Given the description of an element on the screen output the (x, y) to click on. 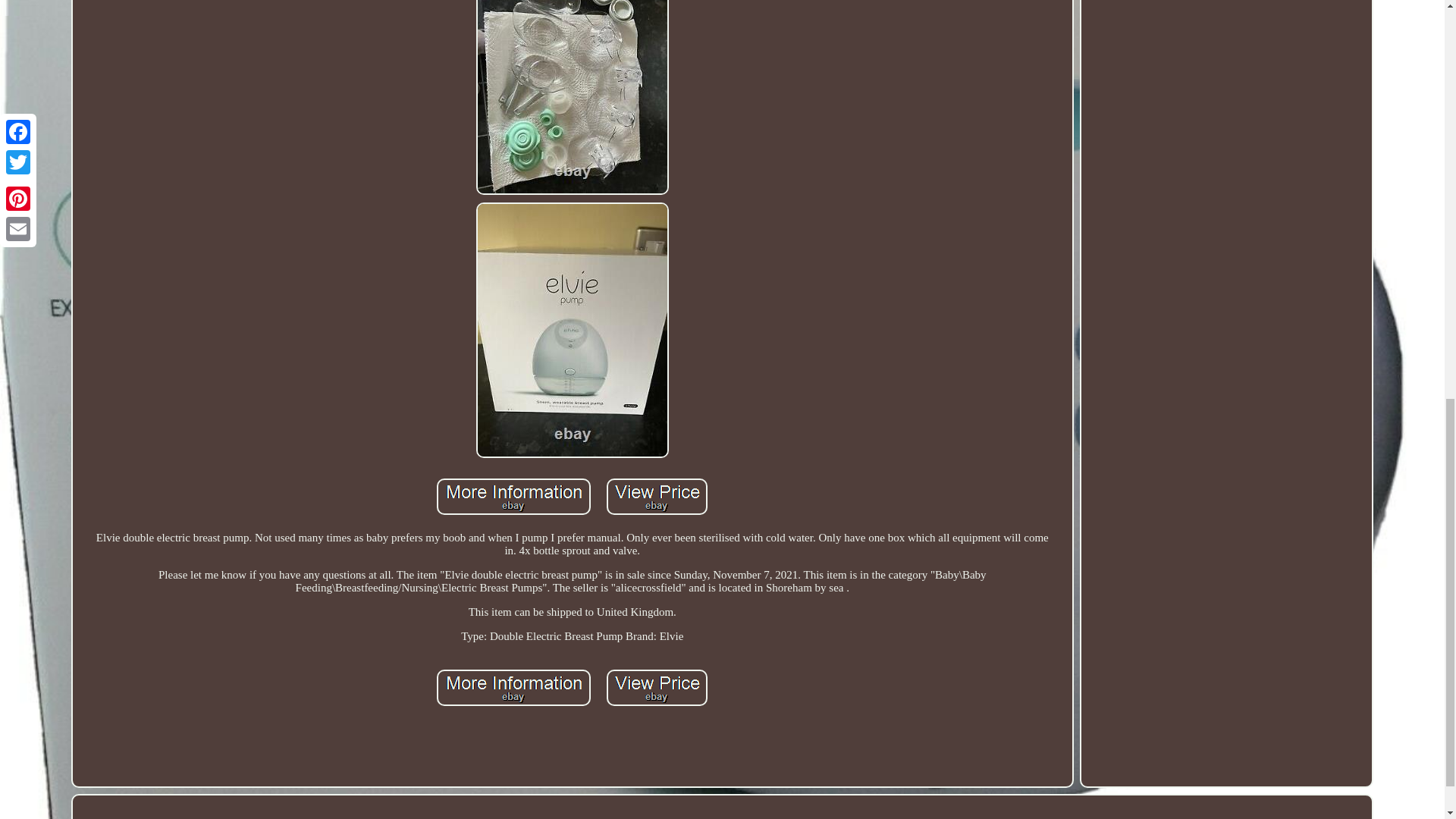
Elvie double electric breast pump (513, 496)
Elvie double electric breast pump (572, 97)
Elvie double electric breast pump (513, 687)
Elvie double electric breast pump (657, 496)
Elvie double electric breast pump (657, 687)
